Given the description of an element on the screen output the (x, y) to click on. 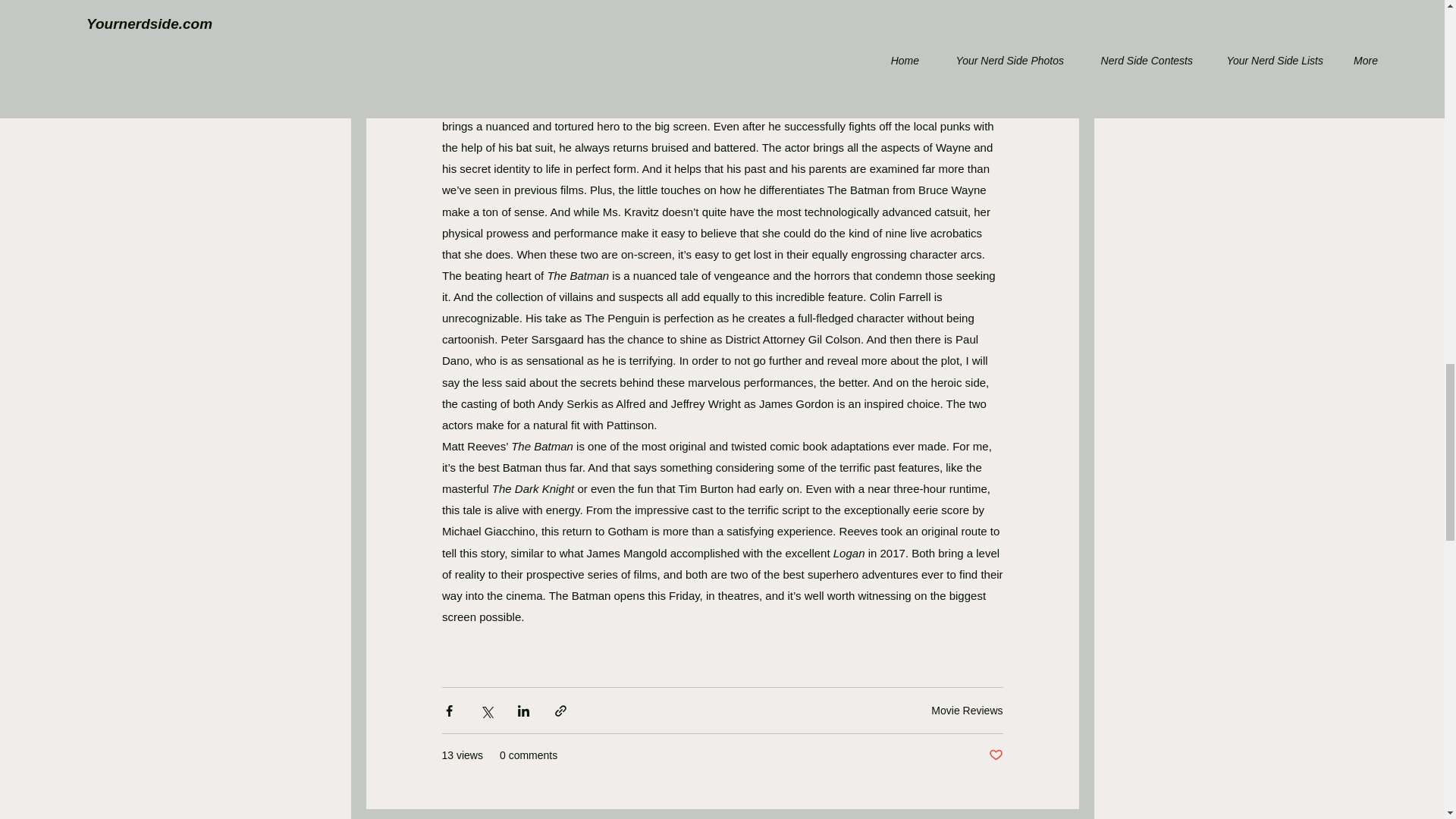
Post not marked as liked (995, 755)
Movie Reviews (967, 710)
